Given the description of an element on the screen output the (x, y) to click on. 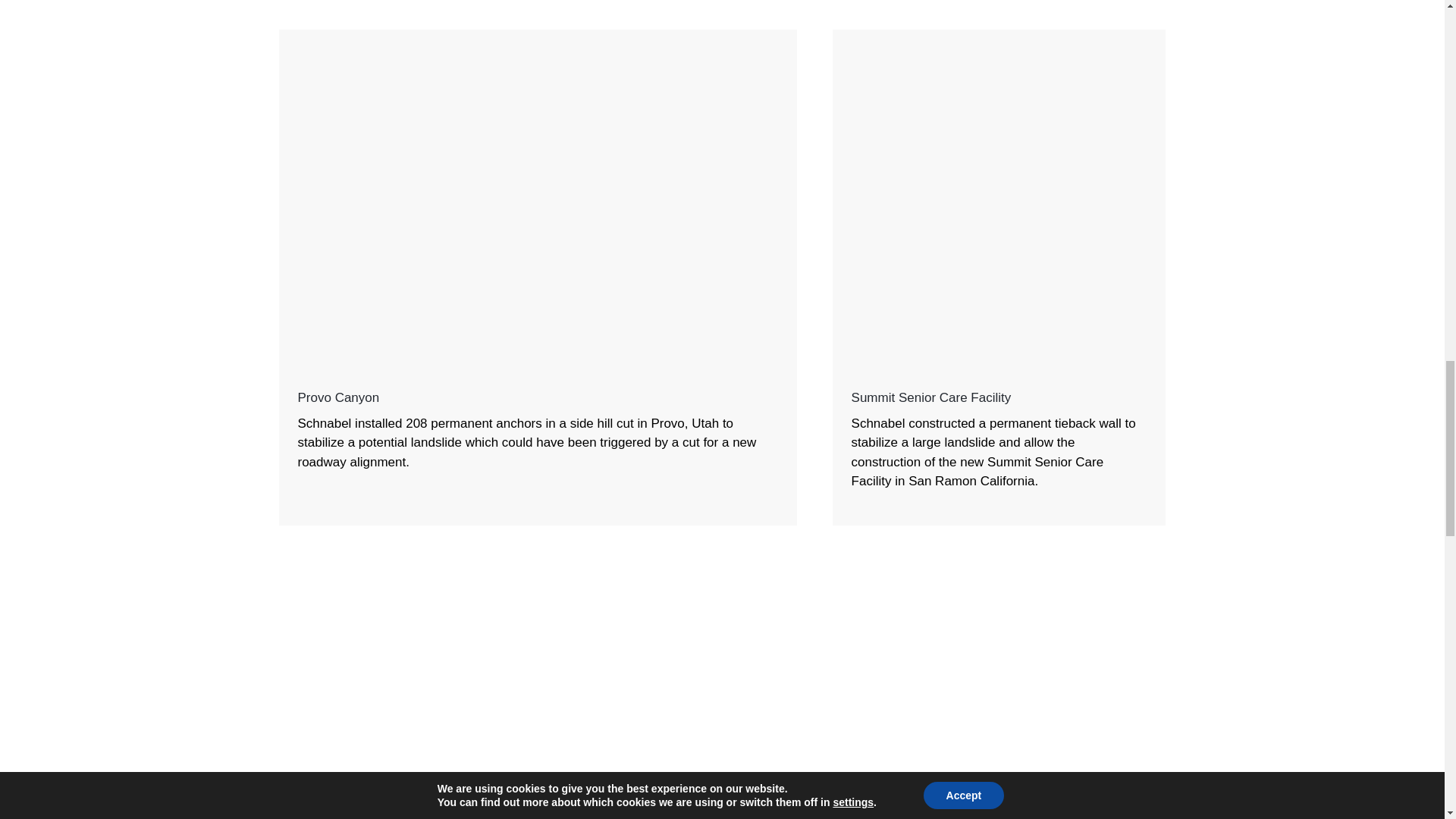
Summit-Senior-Care-Facility (999, 35)
Provo-Canyon (537, 35)
